Given the description of an element on the screen output the (x, y) to click on. 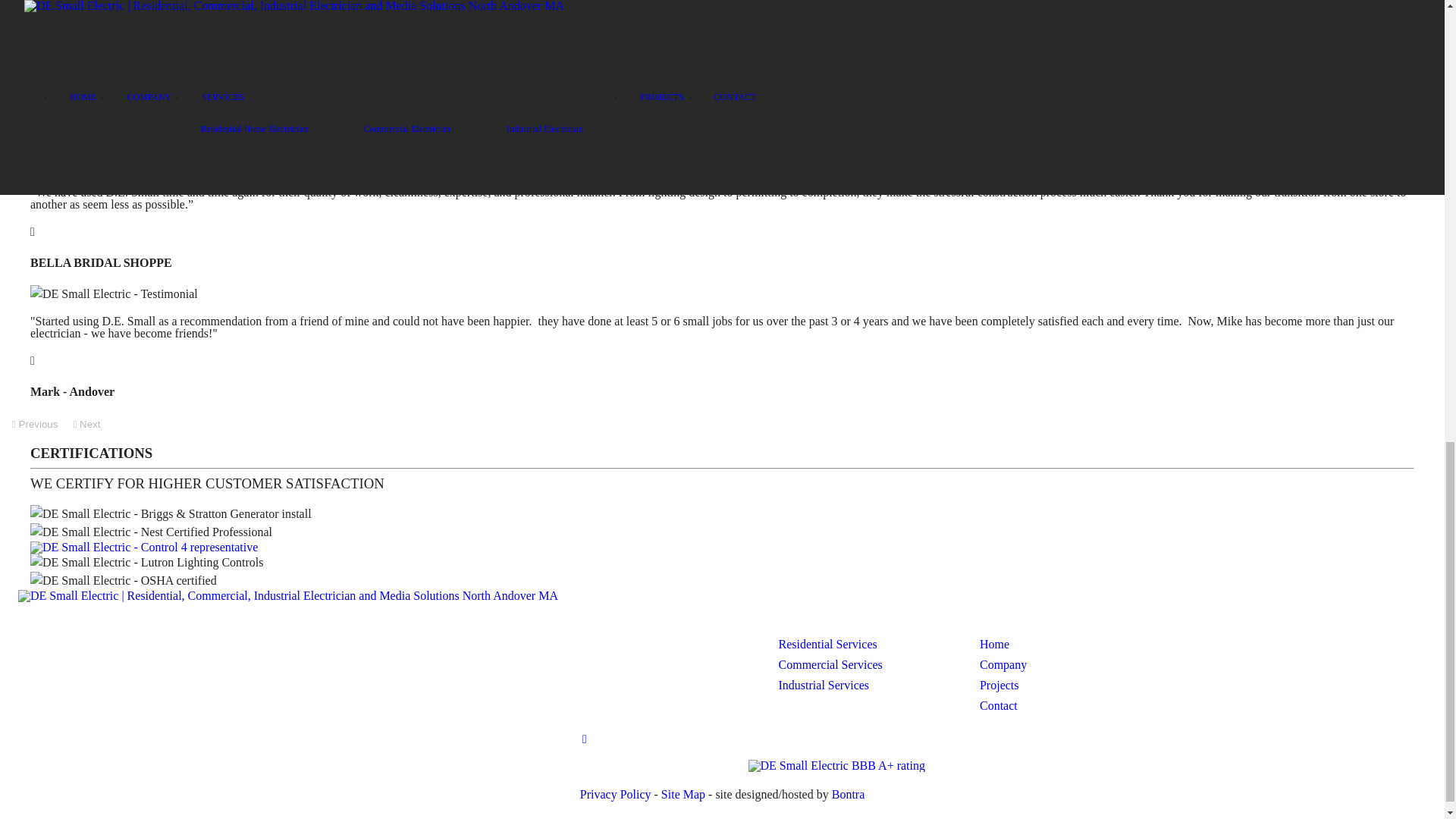
Residential Services (827, 644)
Commercial Services (830, 664)
Previous (34, 424)
Next (86, 424)
